Given the description of an element on the screen output the (x, y) to click on. 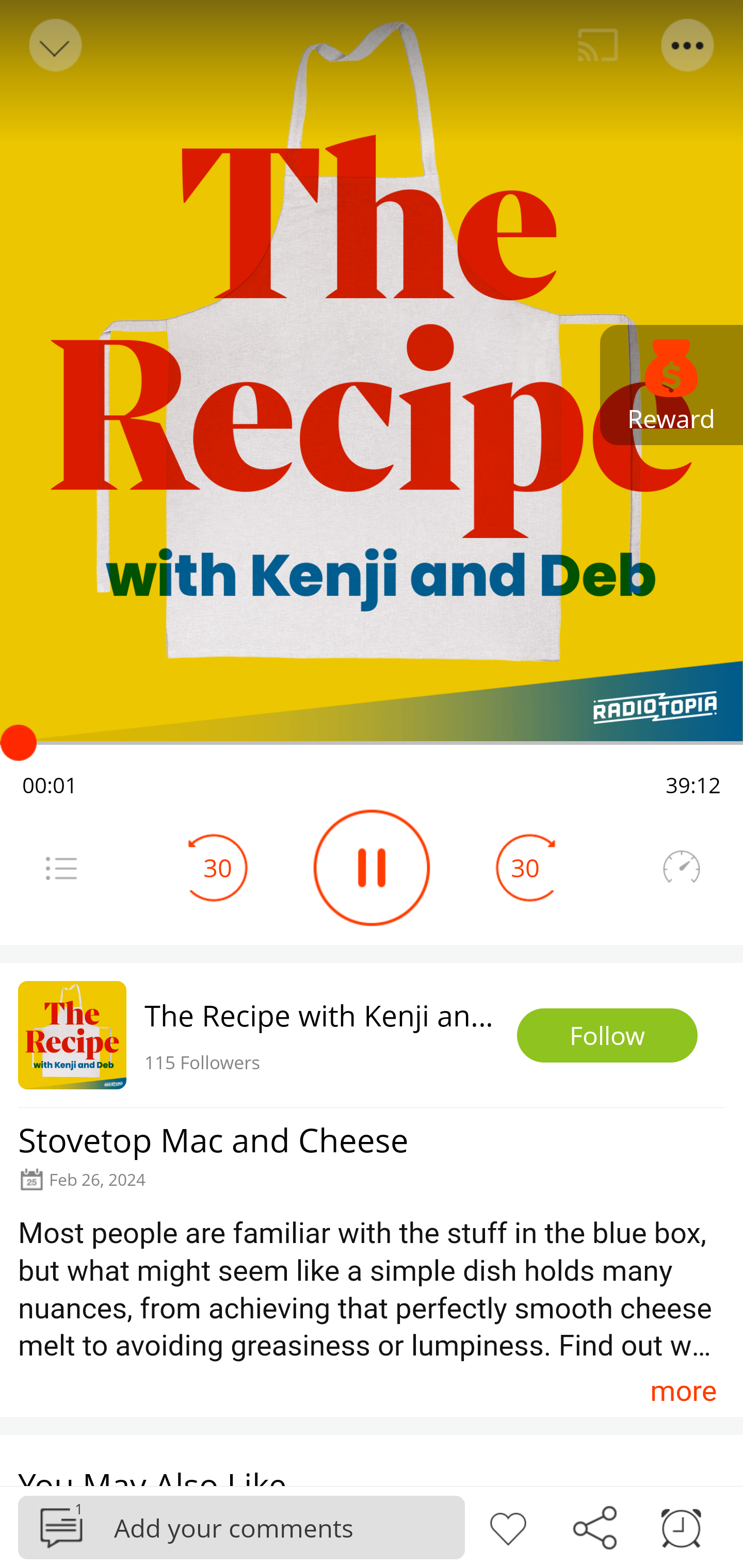
Back (53, 45)
Cast. Disconnected (597, 45)
Menu (688, 45)
Reward (671, 384)
Play (371, 867)
30 Seek Backward (217, 867)
30 Seek Forward (525, 867)
Menu (60, 867)
Speedometer (681, 867)
The Recipe with Kenji and Deb 115 Followers Follow (371, 1034)
Follow (607, 1035)
more (682, 1390)
Like (508, 1526)
Share (594, 1526)
Sleep timer (681, 1526)
Podbean 1 Add your comments (241, 1526)
